Given the description of an element on the screen output the (x, y) to click on. 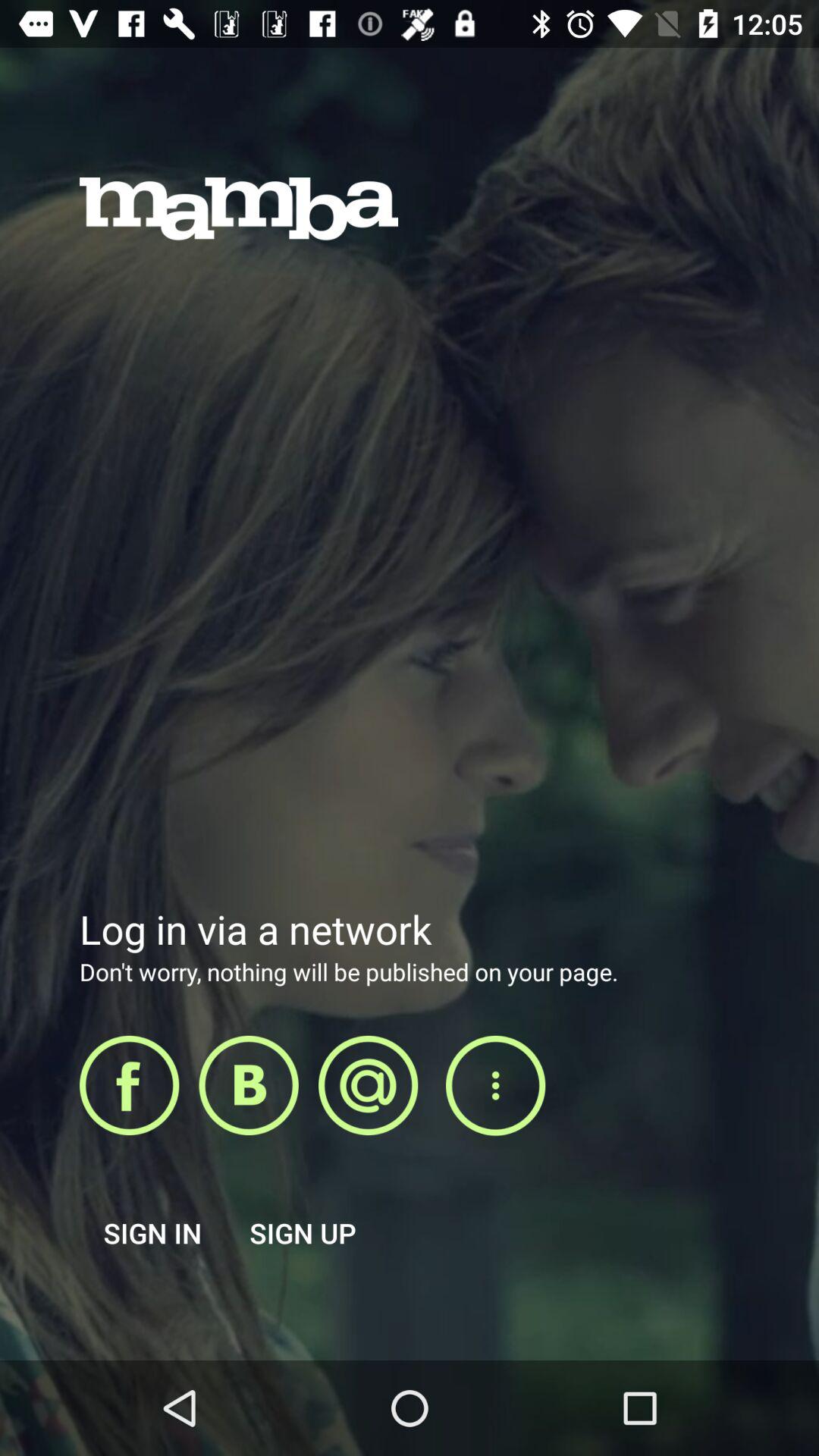
see more options (495, 1086)
